Given the description of an element on the screen output the (x, y) to click on. 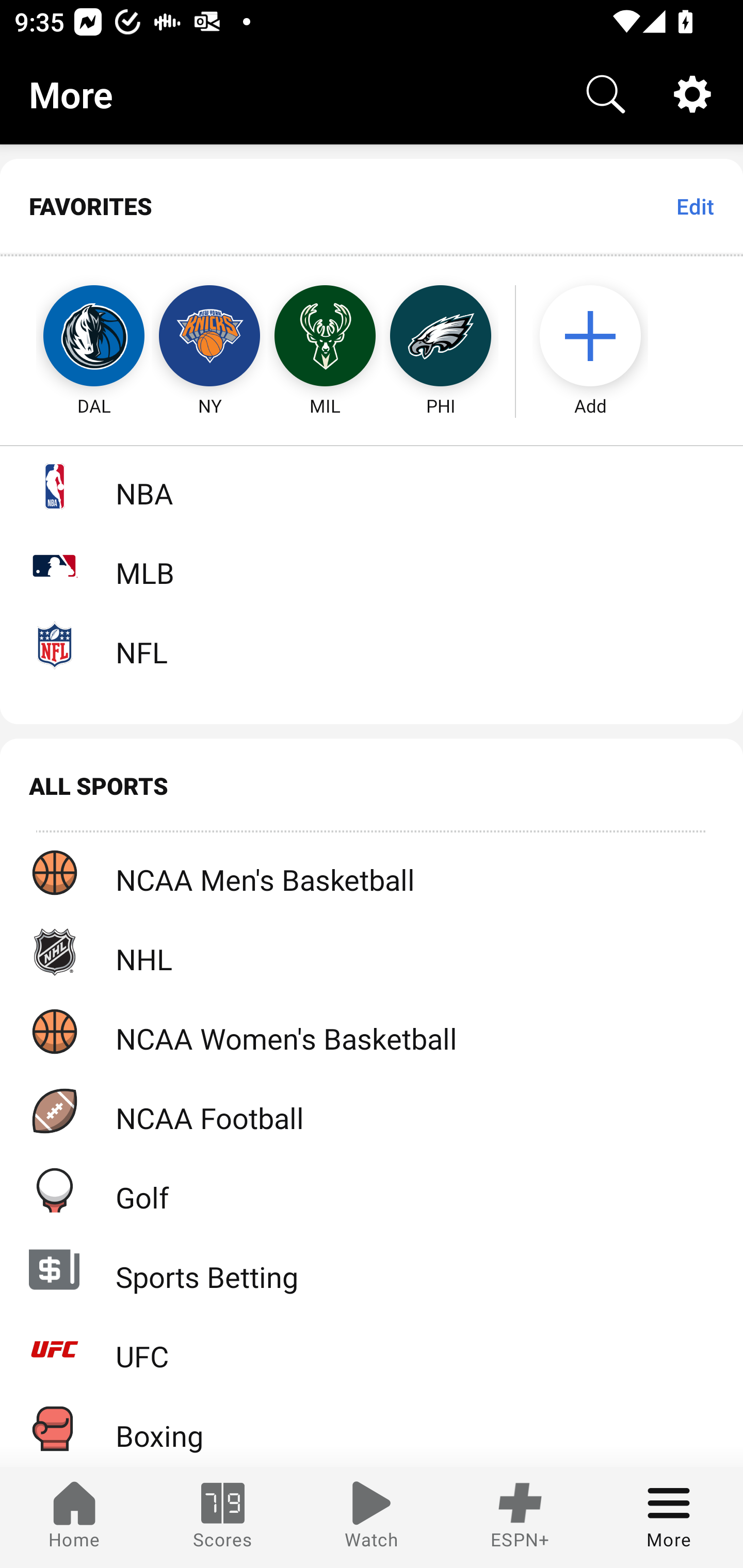
Search (605, 93)
Settings (692, 93)
Edit (695, 205)
DAL Dallas Mavericks (75, 336)
NY New York Knicks (209, 336)
MIL Milwaukee Bucks (324, 336)
PHI Philadelphia Eagles (440, 336)
 Add (599, 336)
NBA (371, 485)
MLB (371, 565)
NFL (371, 645)
NCAA Men's Basketball (371, 872)
NHL (371, 951)
NCAA Women's Basketball (371, 1030)
NCAA Football (371, 1110)
Golf (371, 1189)
Sports Betting (371, 1269)
UFC (371, 1349)
Boxing (371, 1428)
Home (74, 1517)
Scores (222, 1517)
Watch (371, 1517)
ESPN+ (519, 1517)
